Given the description of an element on the screen output the (x, y) to click on. 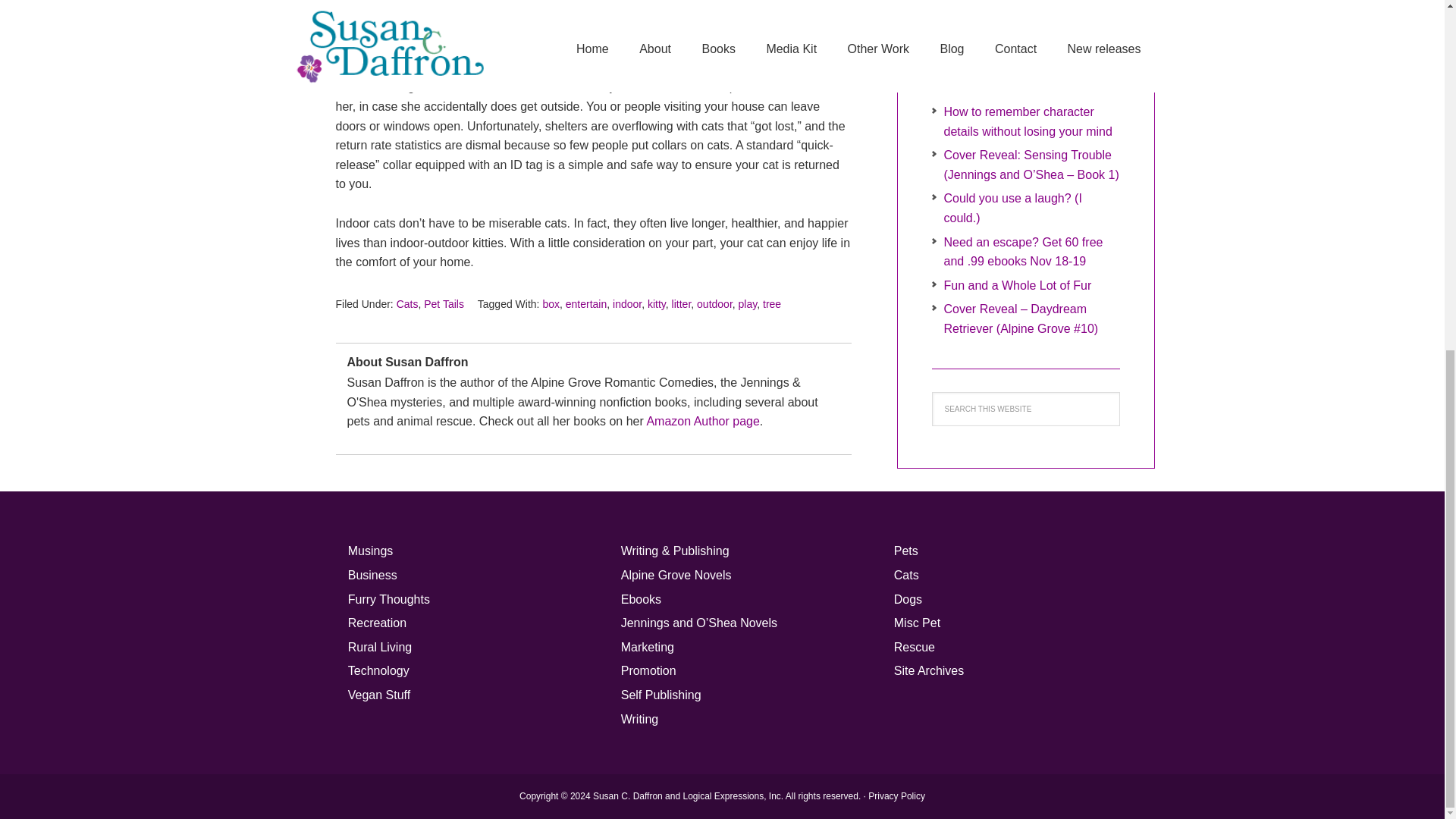
Pet Tails (443, 304)
kitty (656, 304)
Need an escape? Get 60 free and .99 ebooks Nov 18-19 (1022, 251)
entertain (586, 304)
Rural Living (379, 646)
Business (372, 574)
play (747, 304)
Vegan Stuff (378, 694)
outdoor (714, 304)
Fun and a Whole Lot of Fur (1016, 285)
Cats (407, 304)
Recreation (376, 622)
Ebooks (641, 599)
box (550, 304)
How to remember character details without losing your mind (1027, 121)
